Given the description of an element on the screen output the (x, y) to click on. 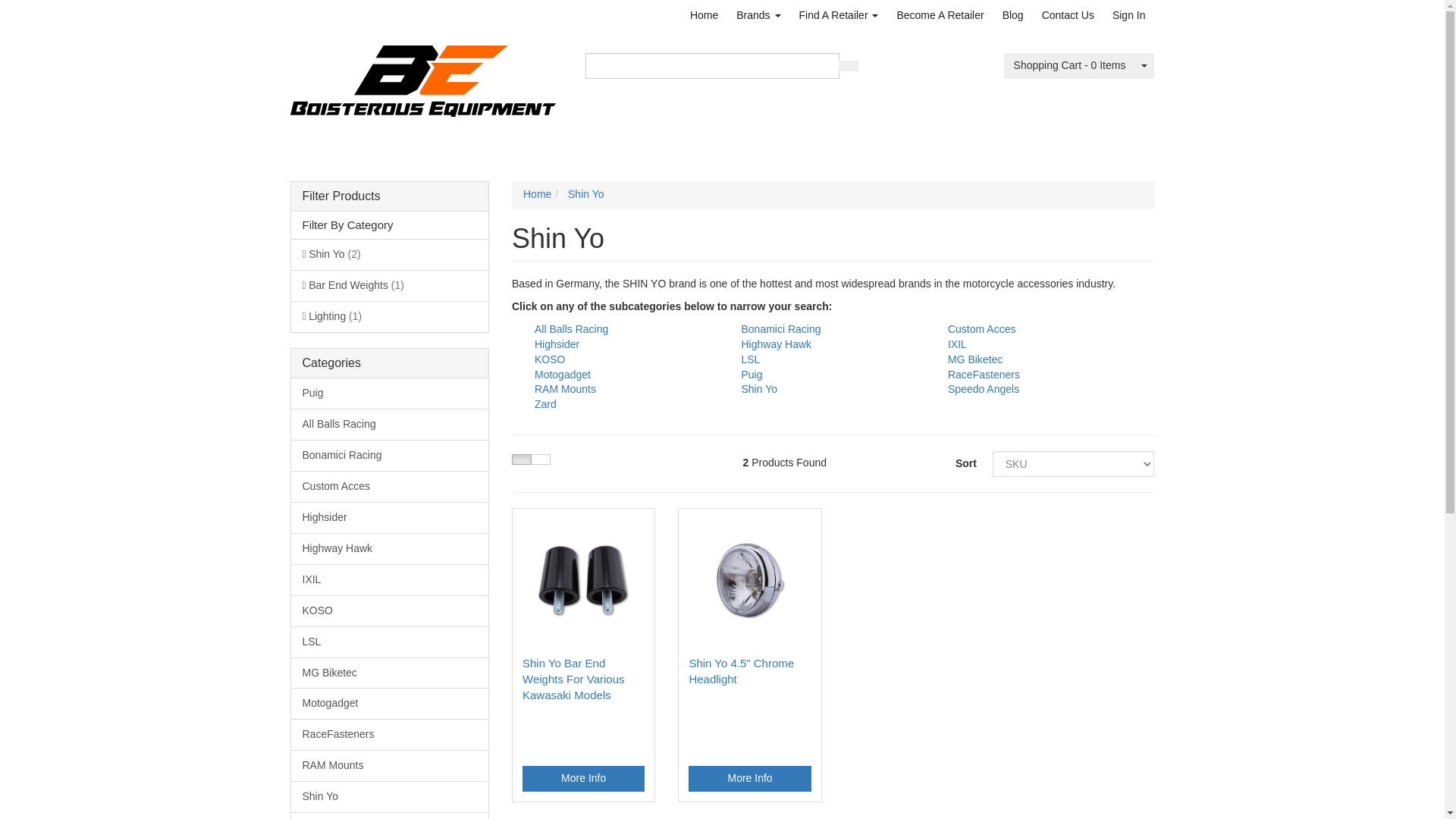
Brands (757, 15)
Buying Options (749, 778)
Home (703, 15)
Buying Options (583, 778)
Boisterous Equipment (421, 76)
